Given the description of an element on the screen output the (x, y) to click on. 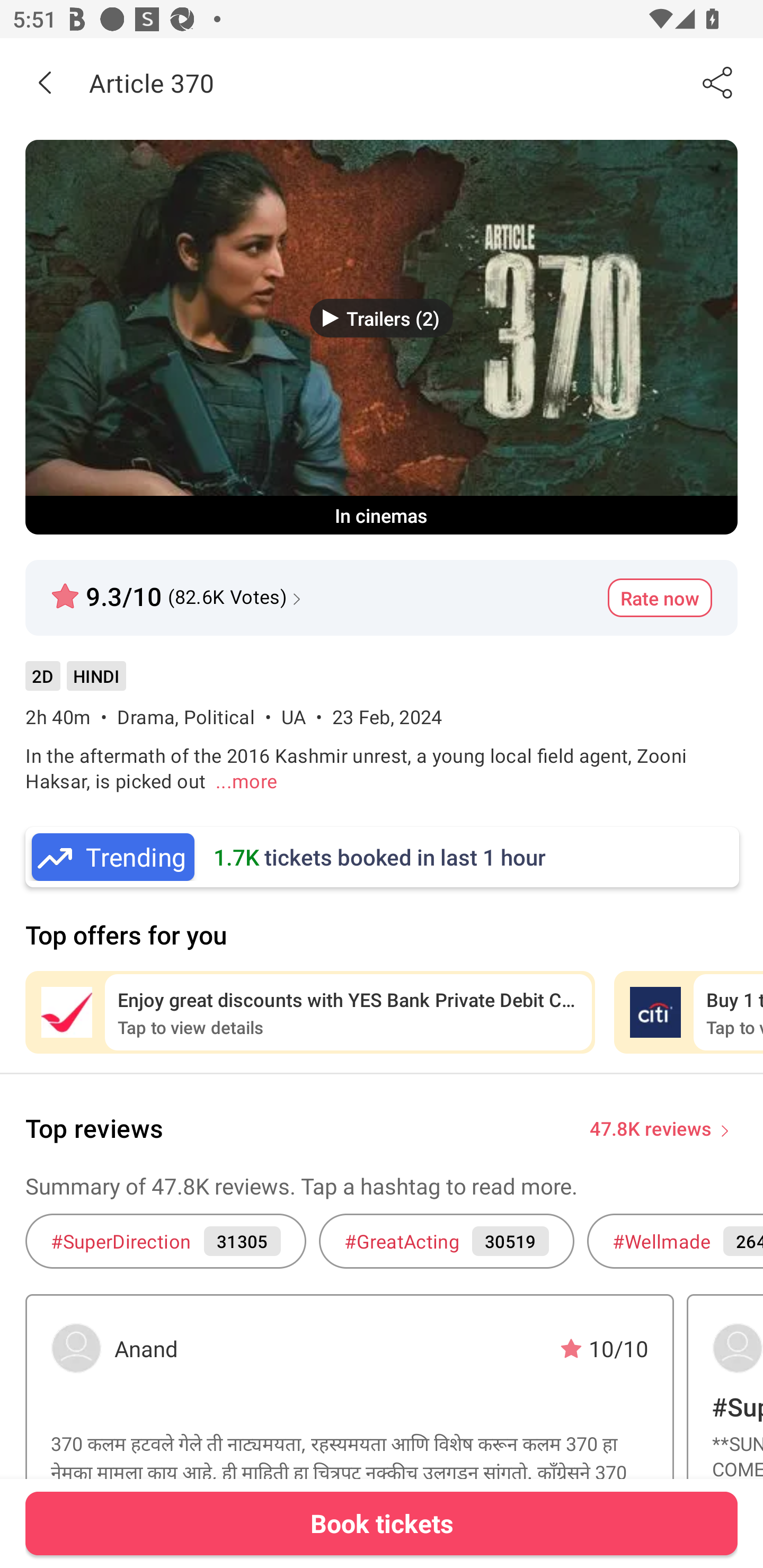
Back (44, 82)
Share (718, 82)
Movie Banner Trailers (2) In cinemas (381, 336)
Trailers (2) (381, 318)
9.3/10 (82.6K Votes) (178, 589)
Rate now (659, 597)
2D HINDI (75, 682)
47.8K reviews (650, 1127)
#SuperDirection 31305 (165, 1240)
#GreatActing 30519 (446, 1240)
#Wellmade 26434 (674, 1240)
Book tickets (381, 1523)
